Given the description of an element on the screen output the (x, y) to click on. 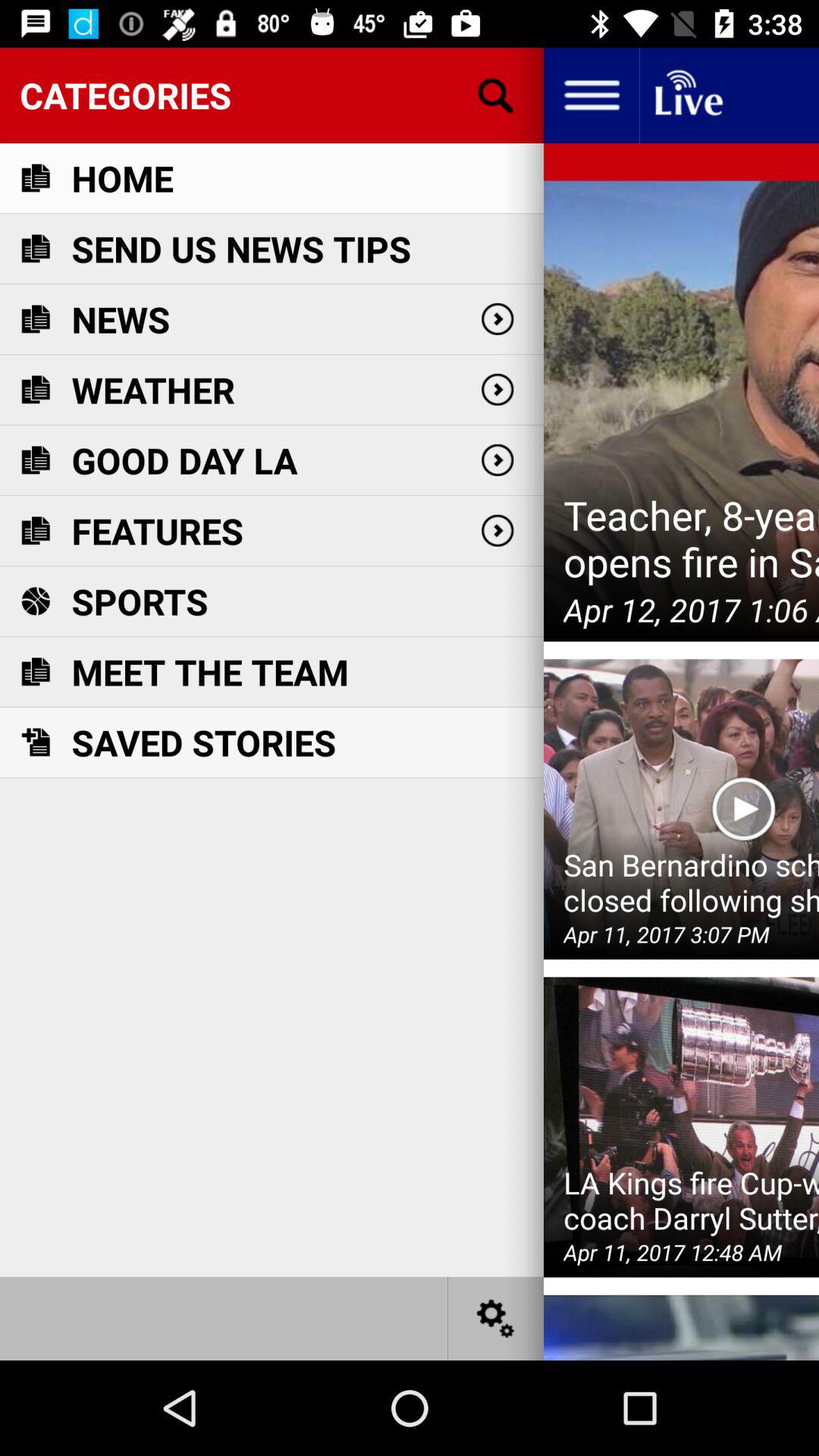
turn off icon below features (139, 601)
